Given the description of an element on the screen output the (x, y) to click on. 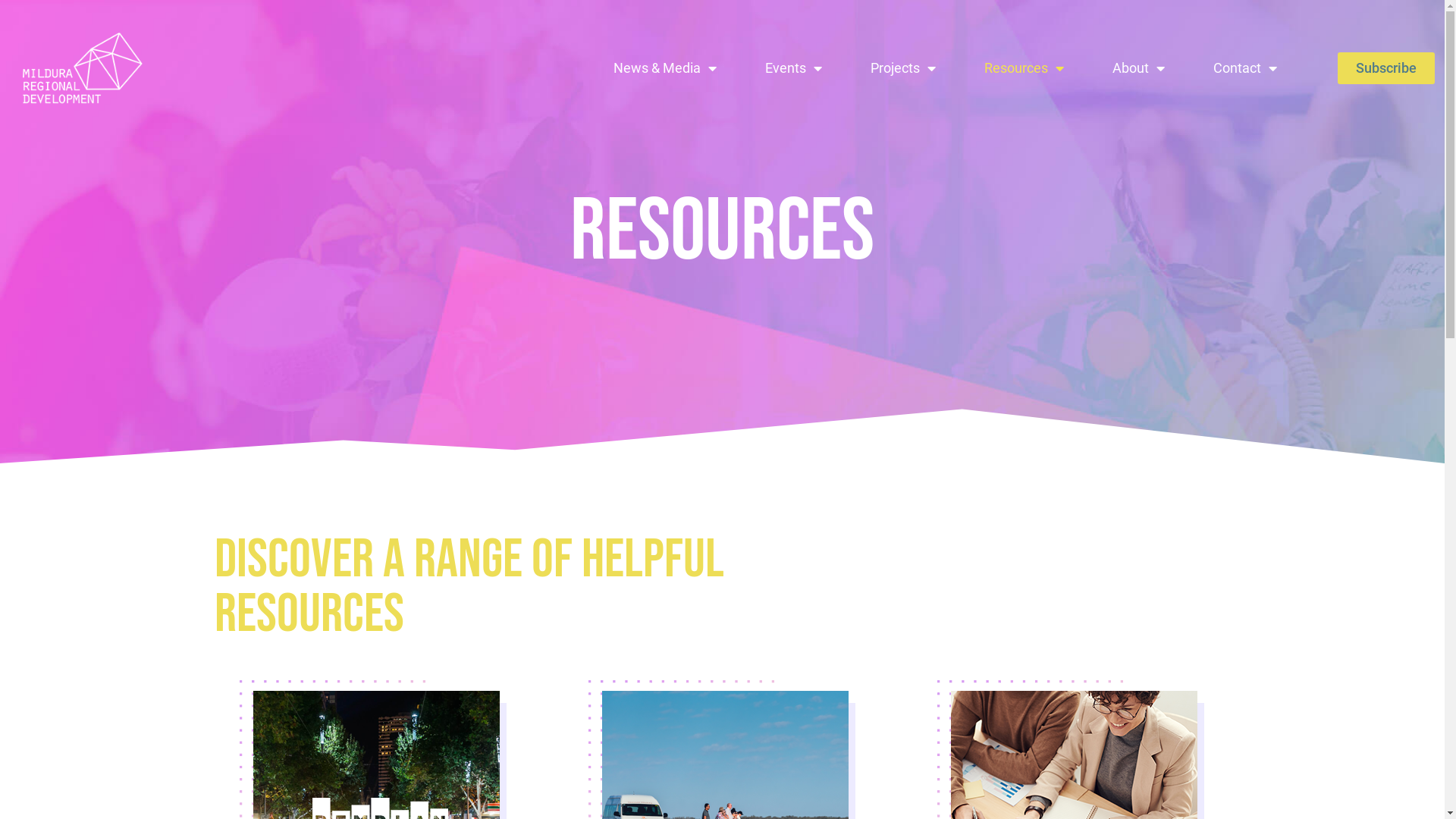
Contact Element type: text (1245, 67)
Events Element type: text (793, 67)
News & Media Element type: text (664, 67)
About Element type: text (1138, 67)
Subscribe Element type: text (1385, 68)
Resources Element type: text (1024, 67)
Projects Element type: text (902, 67)
Submit Element type: text (573, 548)
